Given the description of an element on the screen output the (x, y) to click on. 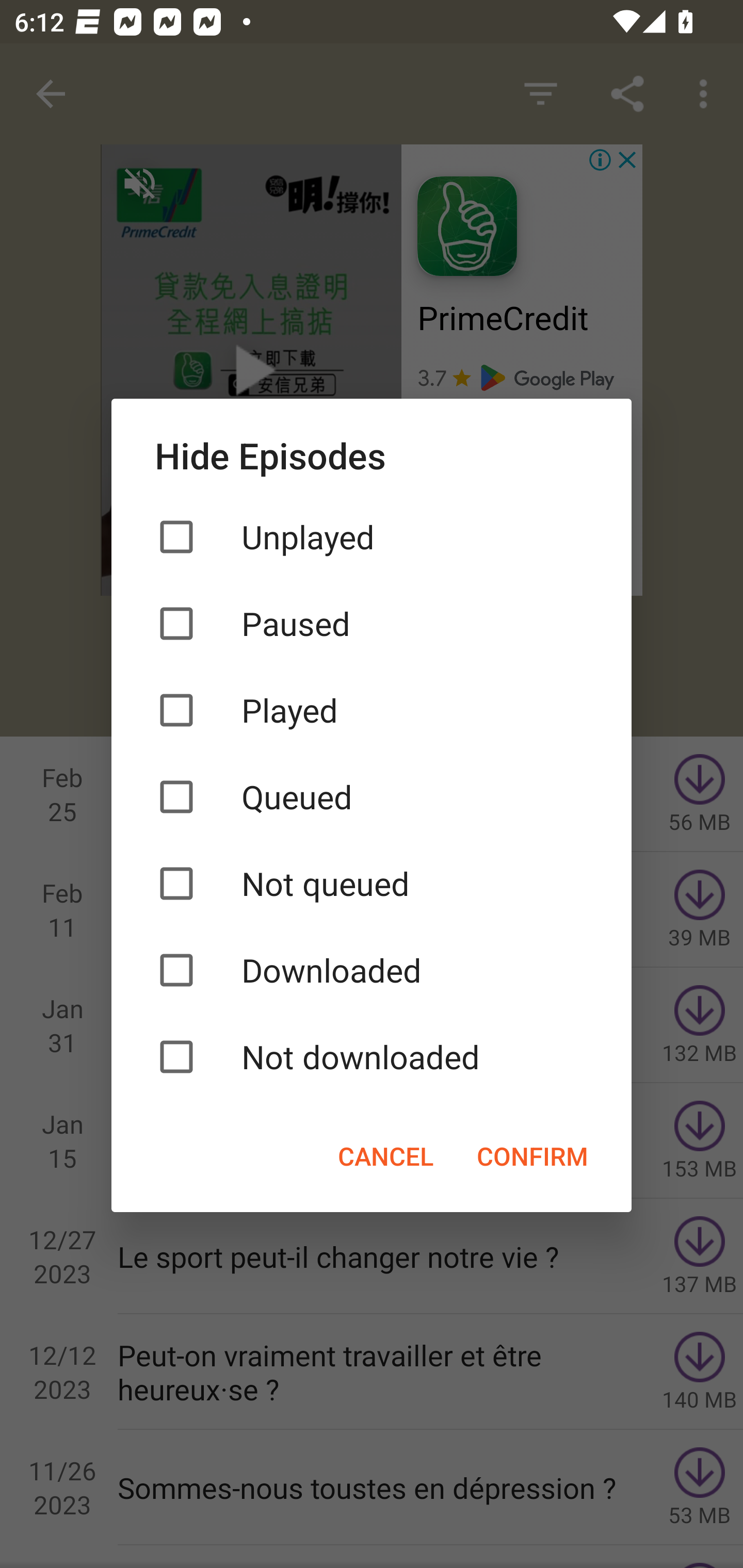
Unplayed (371, 536)
Paused (371, 623)
Played (371, 710)
Queued (371, 797)
Not queued (371, 883)
Downloaded (371, 969)
Not downloaded (371, 1056)
CANCEL (385, 1155)
CONFIRM (532, 1155)
